Given the description of an element on the screen output the (x, y) to click on. 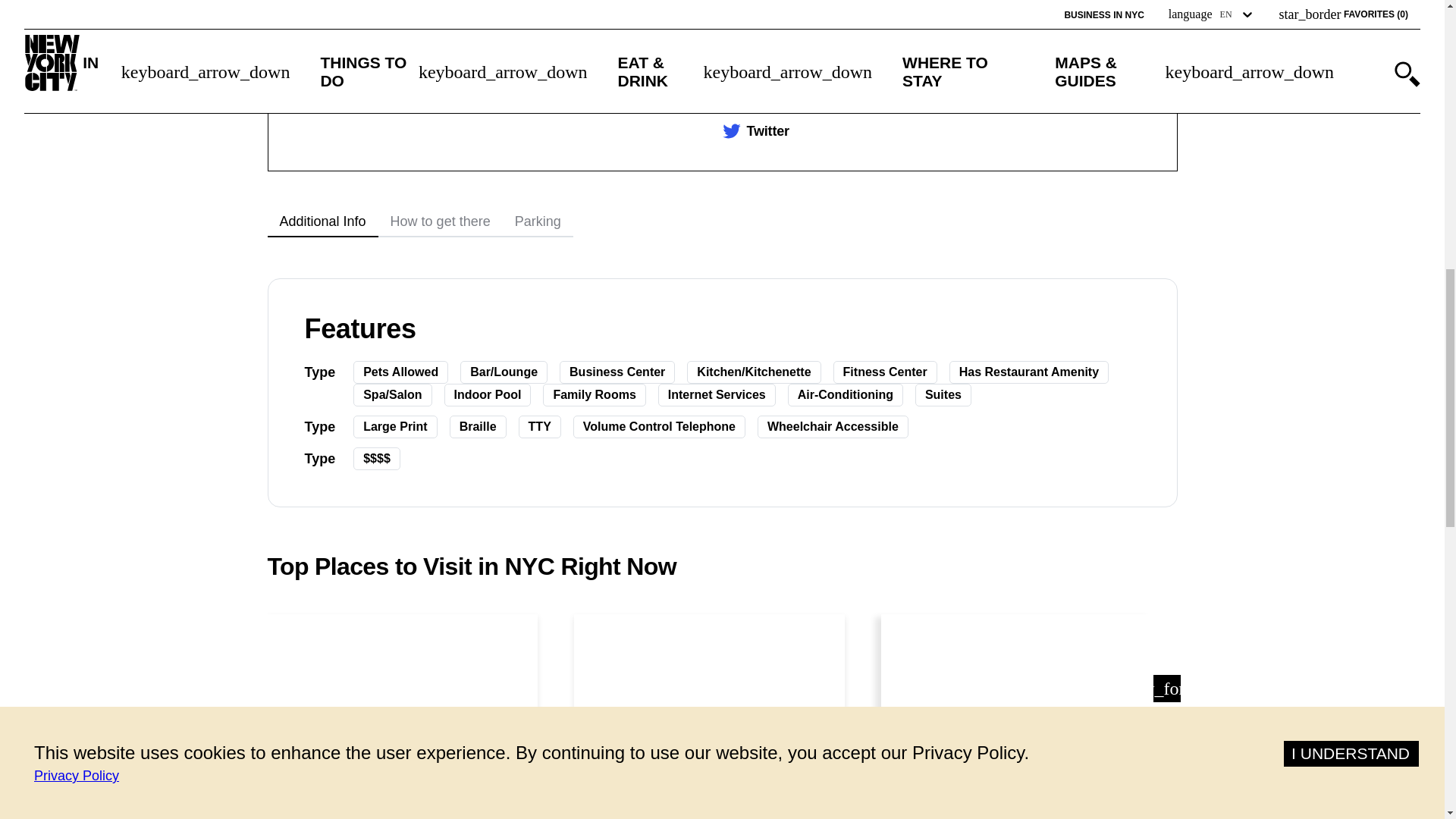
Twitter (767, 131)
VISIT WEBSITE (793, 4)
Facebook (777, 46)
